Given the description of an element on the screen output the (x, y) to click on. 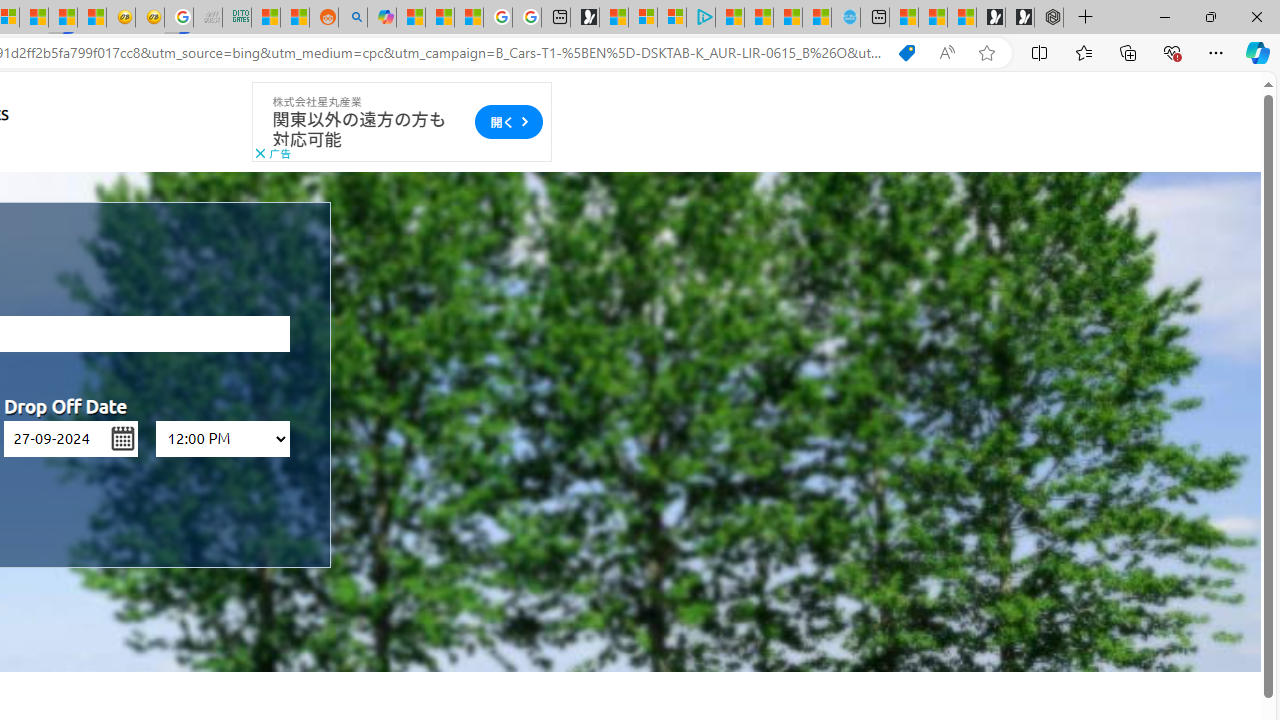
AutomationID: cbb (260, 153)
mm/dd/yy (71, 438)
